Given the description of an element on the screen output the (x, y) to click on. 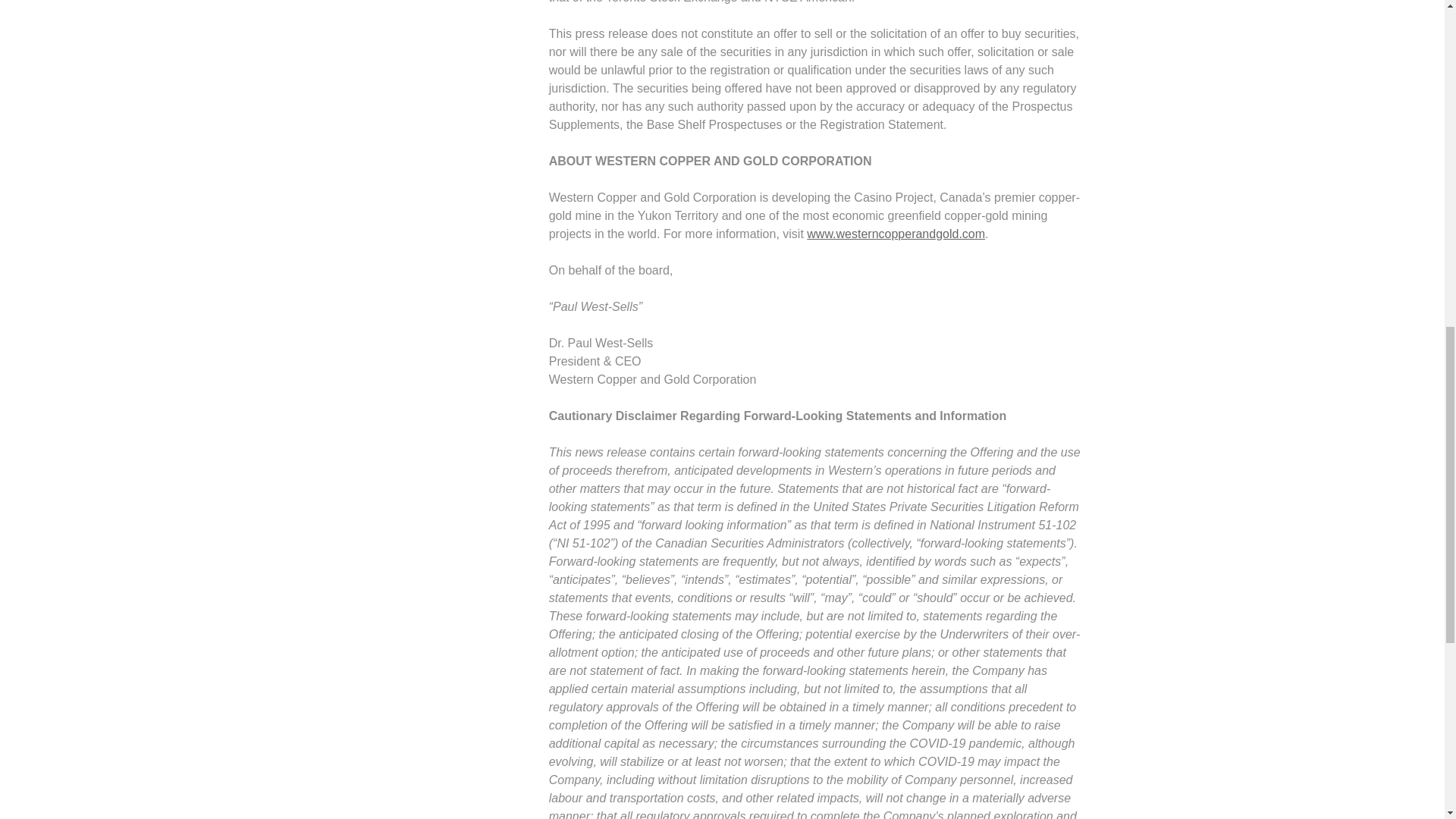
www.westerncopperandgold.com (895, 233)
